Given the description of an element on the screen output the (x, y) to click on. 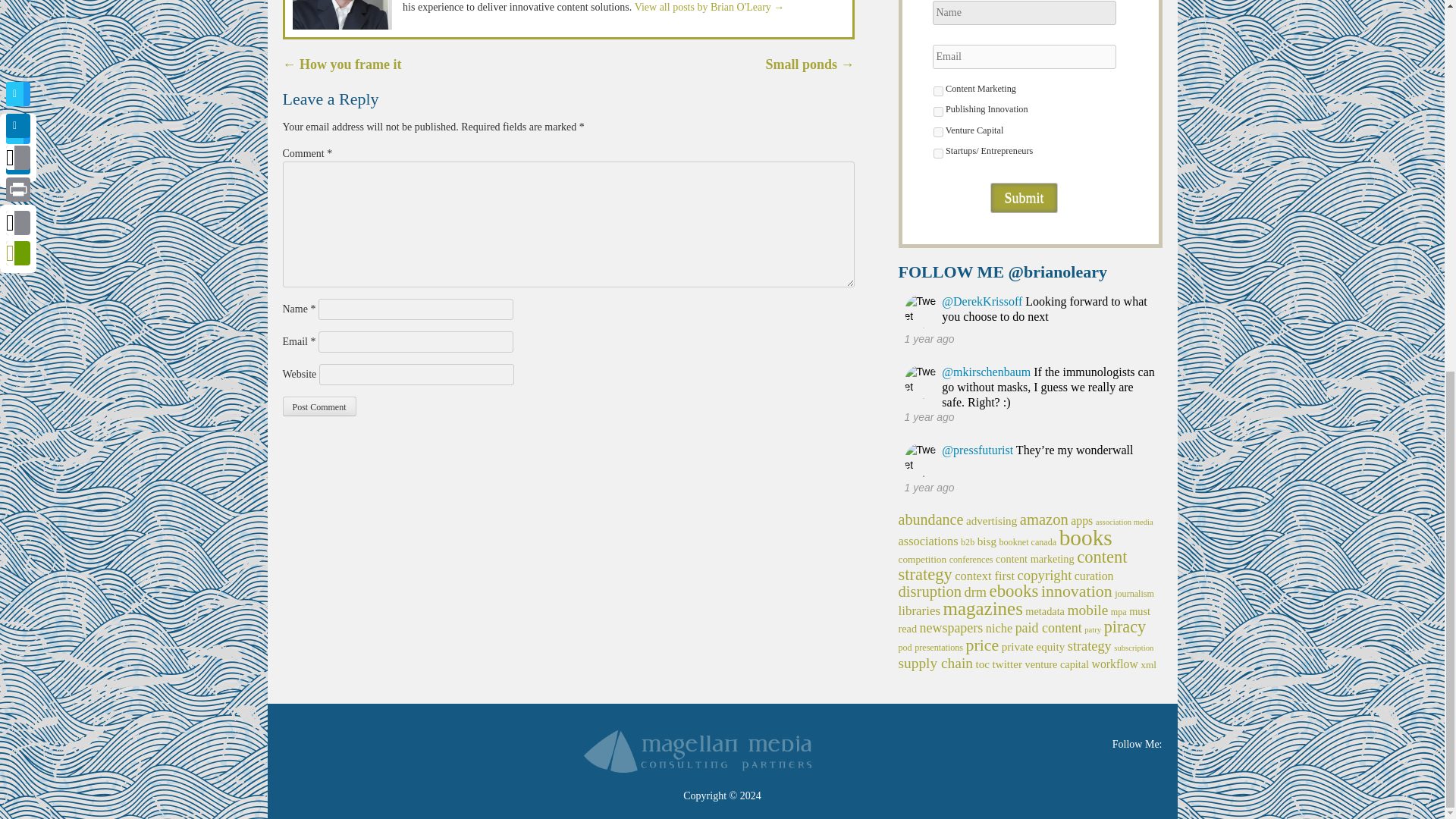
Post Comment (318, 406)
Content Marketing (937, 91)
Submit (1023, 197)
1 year ago (928, 417)
Venture Capital (937, 132)
Publishing Innovation (937, 112)
Post Comment (318, 406)
Submit (1023, 197)
1 year ago (928, 338)
